Given the description of an element on the screen output the (x, y) to click on. 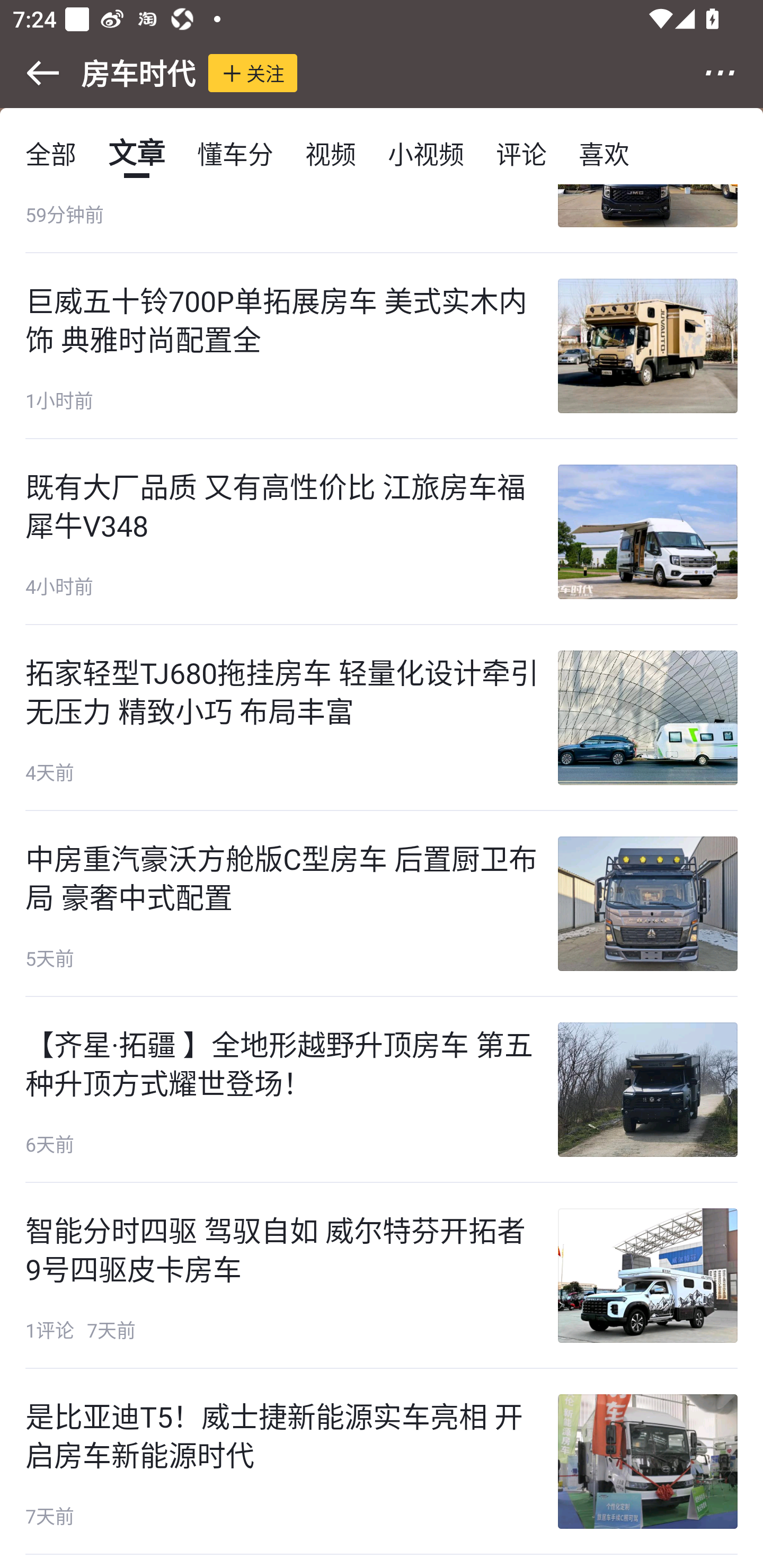
 (30, 72)
 (732, 72)
 关注 (252, 72)
全部 (50, 152)
文章 (136, 152)
懂车分 (234, 152)
视频 (330, 152)
小视频 (425, 152)
评论 (521, 152)
喜欢 (603, 152)
巨威五十铃700P单拓展房车 美式实木内饰 典雅时尚配置全 1小时前 (381, 345)
既有大厂品质 又有高性价比 江旅房车福犀牛V348 4小时前 (381, 532)
拓家轻型TJ680拖挂房车 轻量化设计牵引无压力 精致小巧 布局丰富 4天前 (381, 717)
中房重汽豪沃方舱版C型房车 后置厨卫布局 豪奢中式配置 5天前 (381, 903)
【齐星·拓疆 】全地形越野升顶房车 第五种升顶方式耀世登场！ 6天前 (381, 1089)
智能分时四驱 驾驭自如 威尔特芬开拓者9号四驱皮卡房车 1评论 7天前 (381, 1275)
是比亚迪T5！威士捷新能源实车亮相 开启房车新能源时代 7天前 (381, 1461)
